Given the description of an element on the screen output the (x, y) to click on. 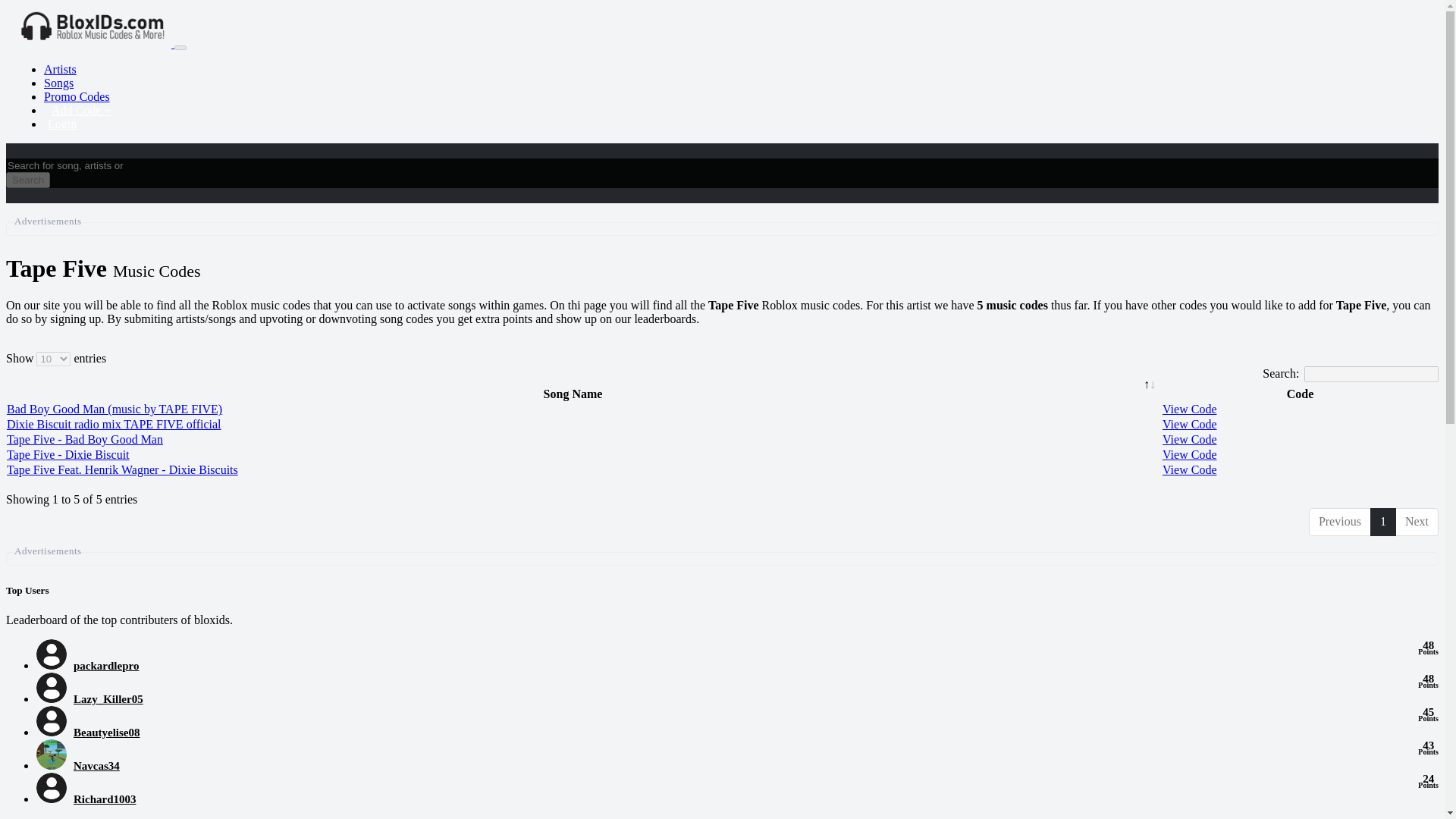
View Code (1188, 469)
View Code (1188, 423)
Dixie Biscuit radio mix TAPE FIVE official (114, 423)
Songs (106, 665)
Artists (58, 82)
Tape Five - Bad Boy Good Man (60, 69)
View Code (106, 732)
Search (85, 439)
Previous (105, 799)
Tape Five Feat. Henrik Wagner - Dixie Biscuits (96, 766)
Promo Codes (1188, 439)
